Given the description of an element on the screen output the (x, y) to click on. 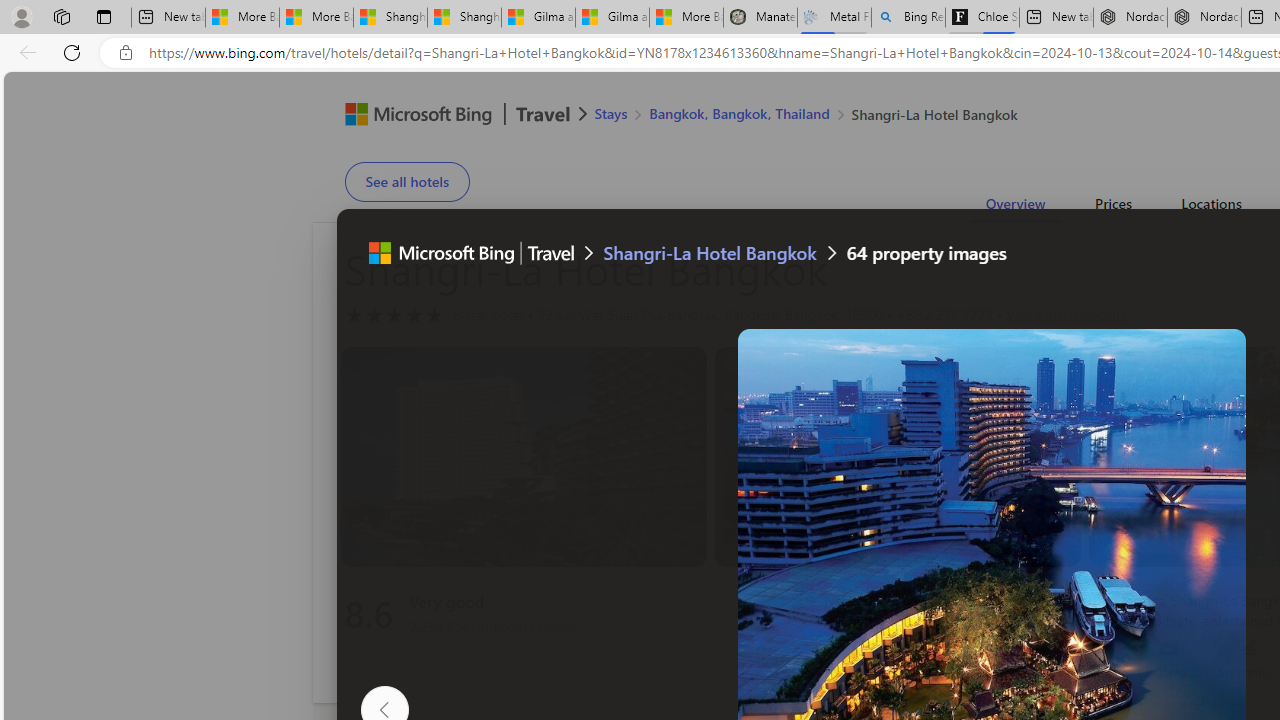
Nordace - #1 Japanese Best-Seller - Siena Smart Backpack (1204, 17)
Bing Real Estate - Home sales and rental listings (907, 17)
Chloe Sorvino (981, 17)
Manatee Mortality Statistics | FWC (760, 17)
Gilma and Hector both pose tropical trouble for Hawaii (612, 17)
